Given the description of an element on the screen output the (x, y) to click on. 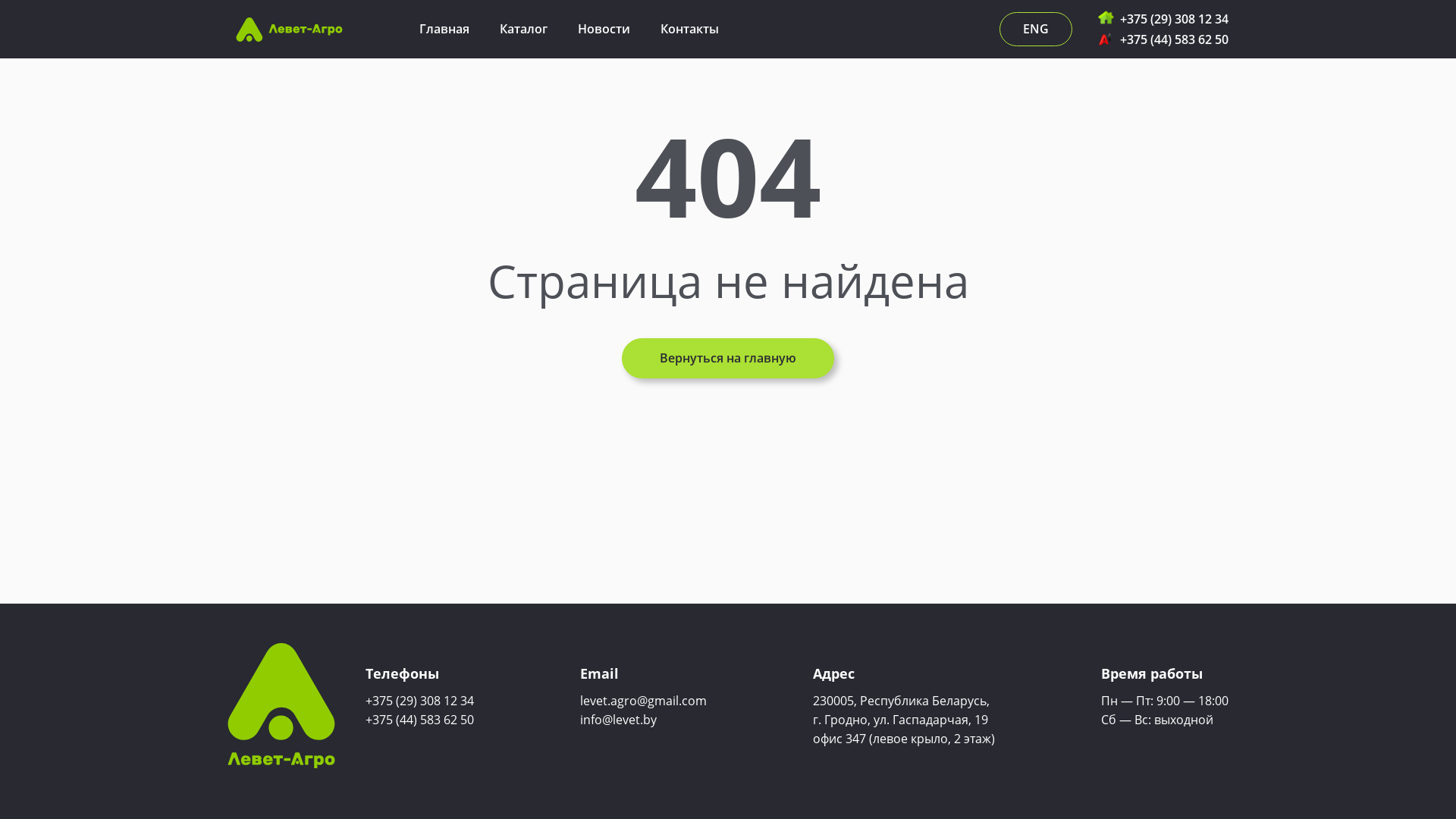
levet.agro@gmail.com Element type: text (643, 699)
+375 (44) 583 62 50 Element type: text (419, 719)
+375 (44) 583 62 50 Element type: text (1174, 38)
+375 (29) 308 12 34 Element type: text (1174, 19)
info@levet.by Element type: text (618, 719)
ENG Element type: text (1035, 29)
Levet logo Element type: hover (281, 705)
+375 (29) 308 12 34 Element type: text (419, 699)
